Given the description of an element on the screen output the (x, y) to click on. 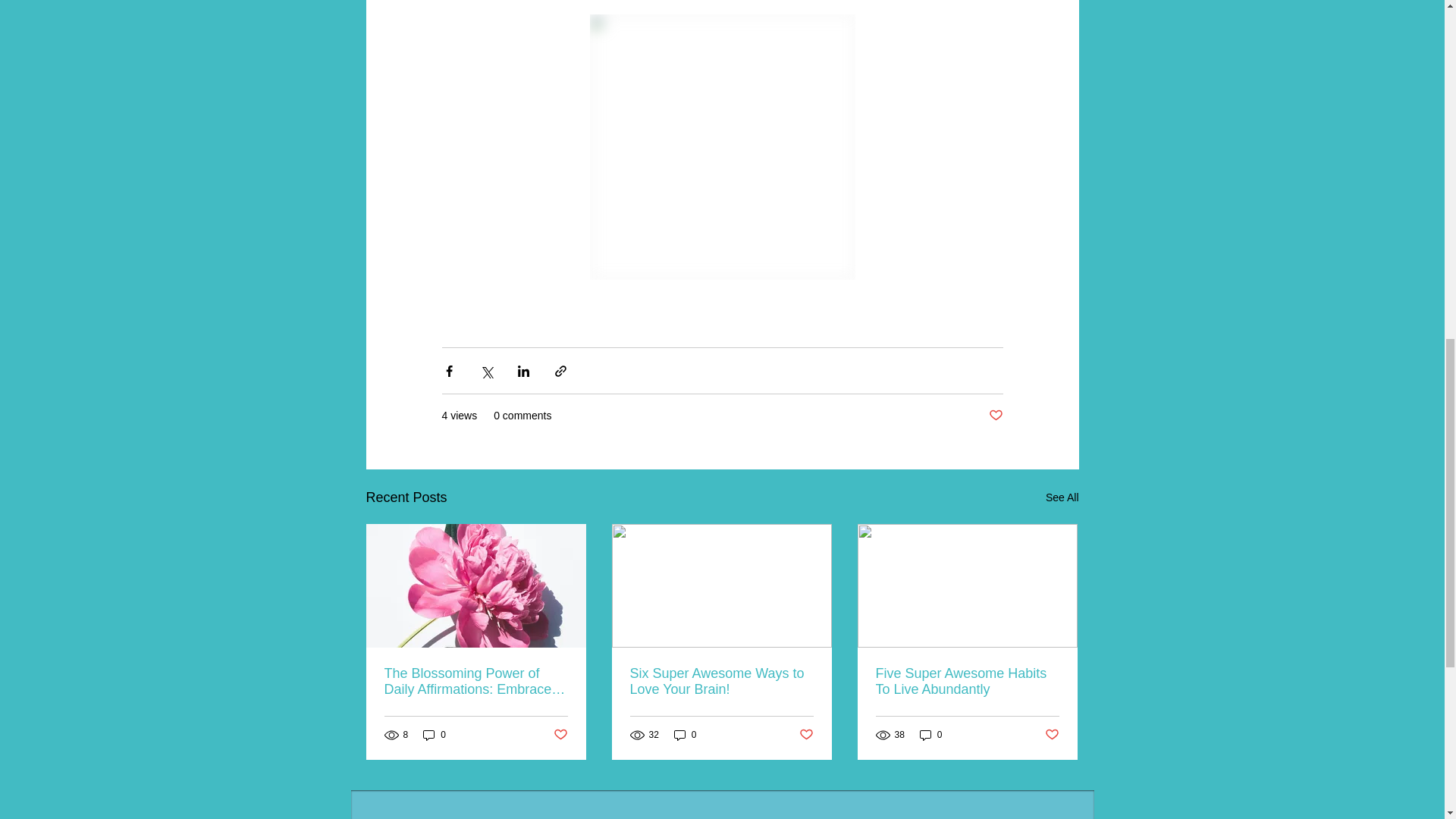
See All (1061, 497)
0 (434, 735)
Post not marked as liked (806, 734)
Six Super Awesome Ways to Love Your Brain! (720, 681)
0 (930, 735)
Post not marked as liked (560, 734)
Post not marked as liked (995, 415)
0 (685, 735)
Five Super Awesome Habits To Live Abundantly (966, 681)
